Given the description of an element on the screen output the (x, y) to click on. 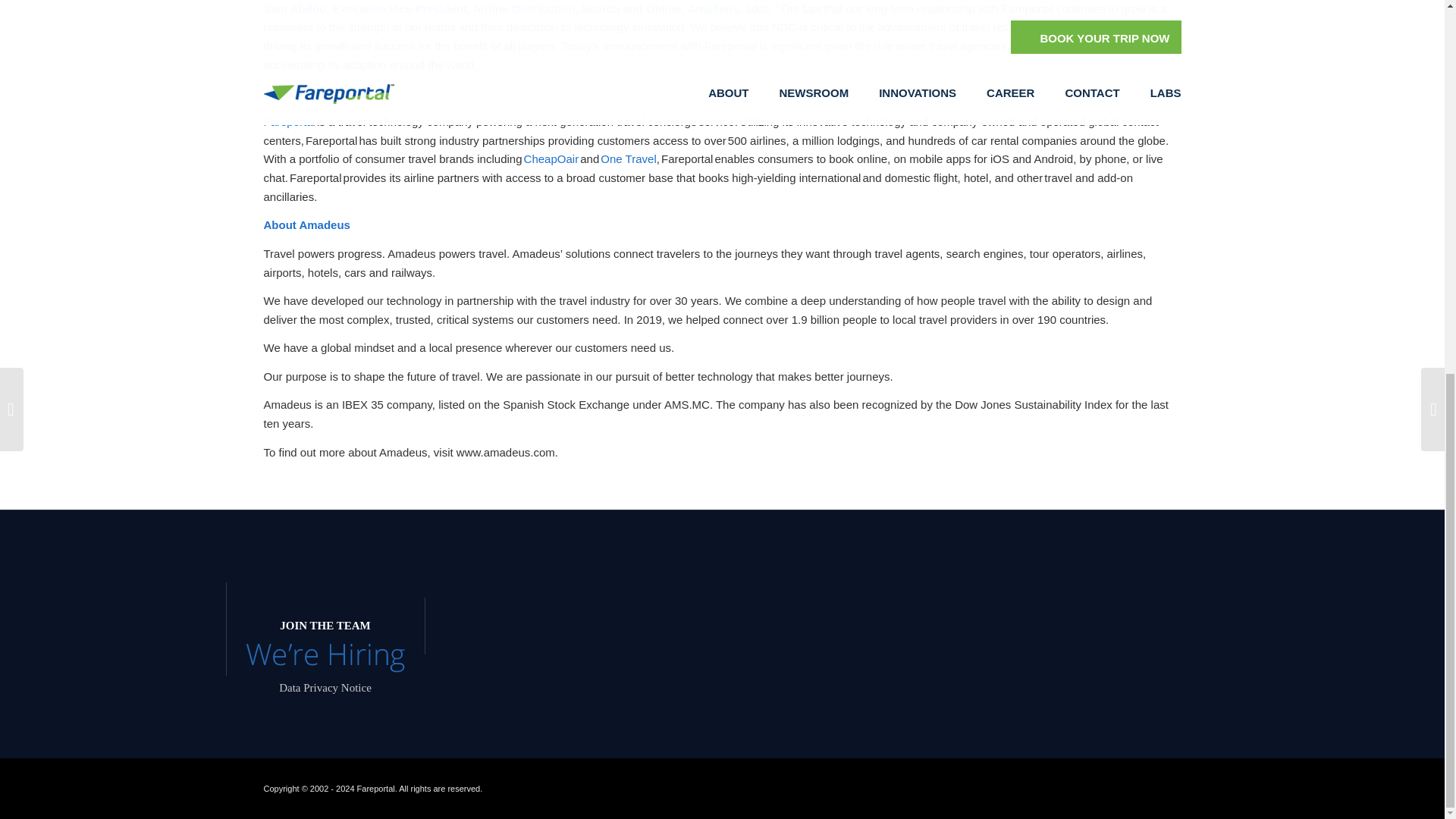
Fareportal (289, 121)
One Travel (627, 158)
Data Privacy Notice (325, 686)
CheapOair (551, 158)
